Given the description of an element on the screen output the (x, y) to click on. 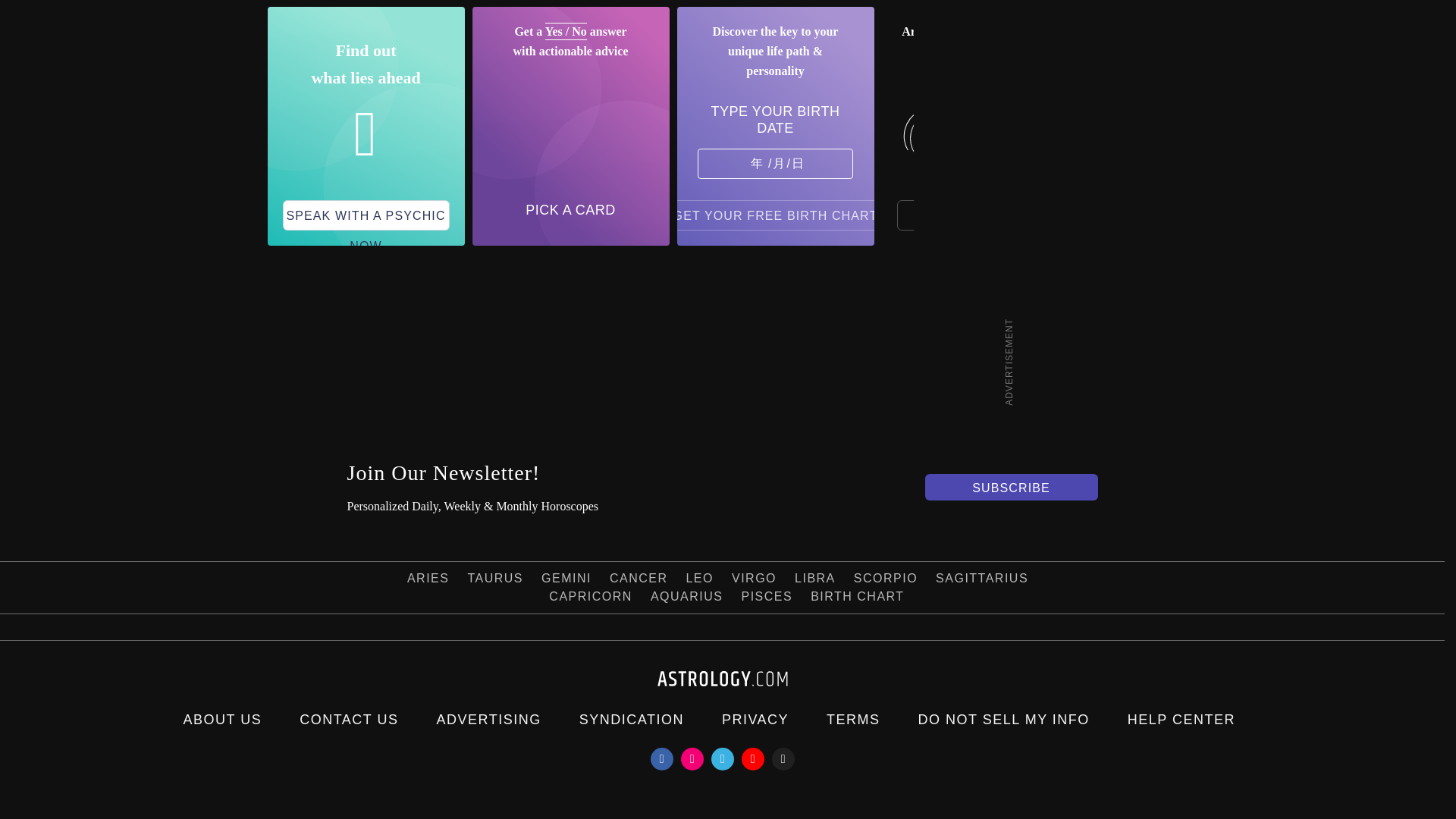
Get your free birth chart (775, 214)
